Given the description of an element on the screen output the (x, y) to click on. 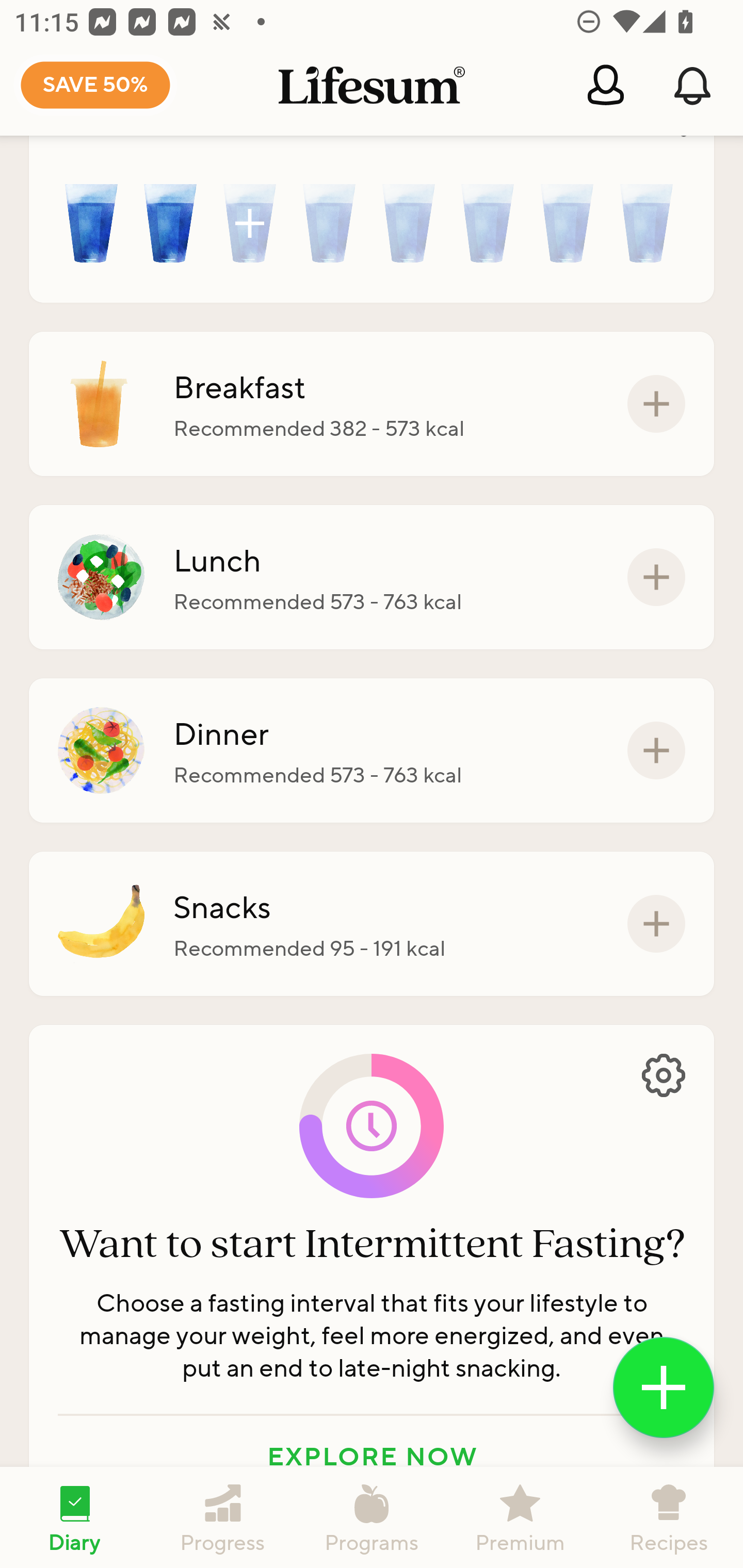
Breakfast Recommended 382 - 573 kcal (371, 404)
Lunch Recommended 573 - 763 kcal (371, 576)
Dinner Recommended 573 - 763 kcal (371, 750)
Snacks Recommended 95 - 191 kcal (371, 923)
EXPLORE NOW (371, 1455)
Progress (222, 1517)
Programs (371, 1517)
Premium (519, 1517)
Recipes (668, 1517)
